Given the description of an element on the screen output the (x, y) to click on. 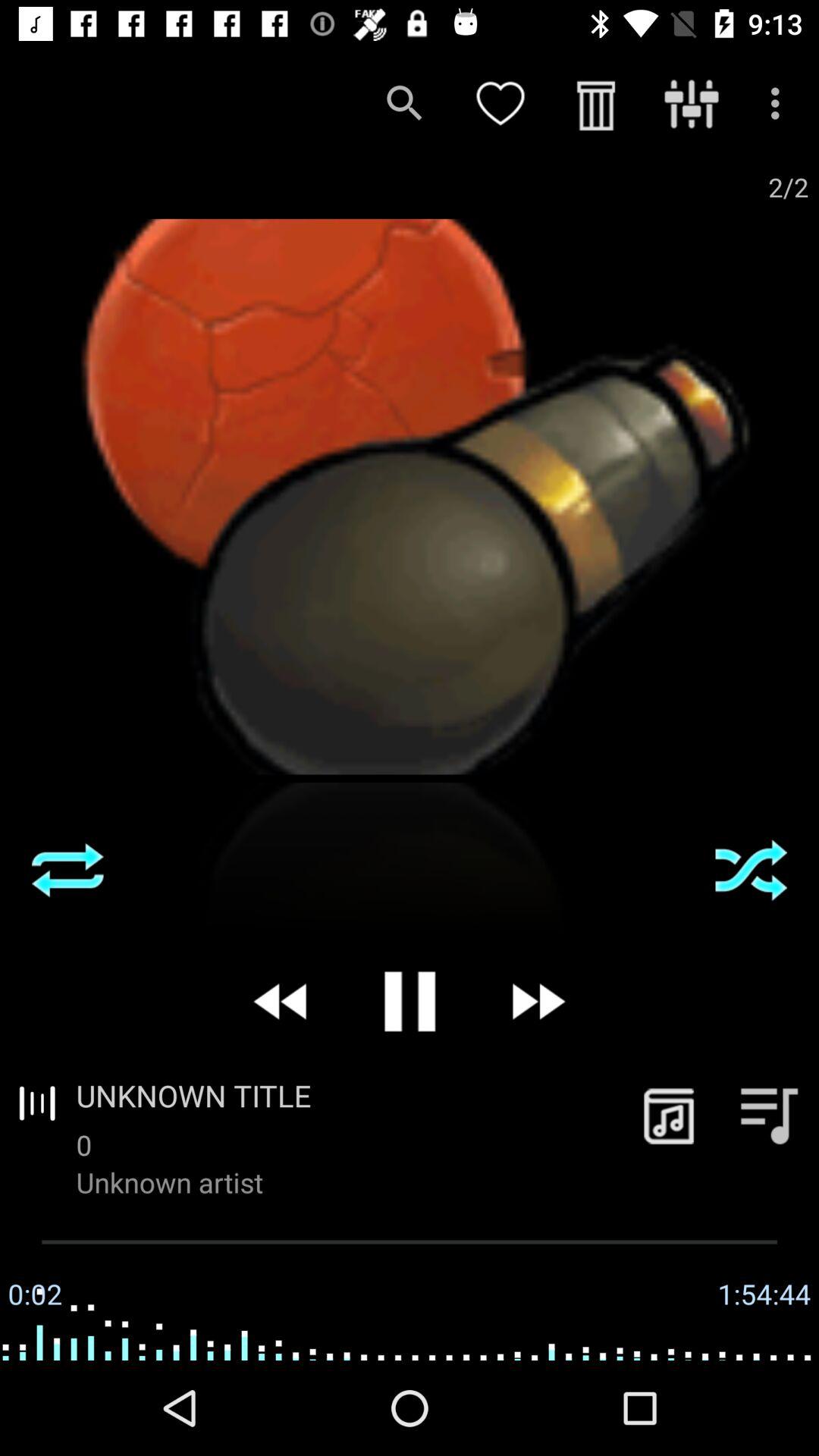
turn off the item above 2/2 item (779, 103)
